Given the description of an element on the screen output the (x, y) to click on. 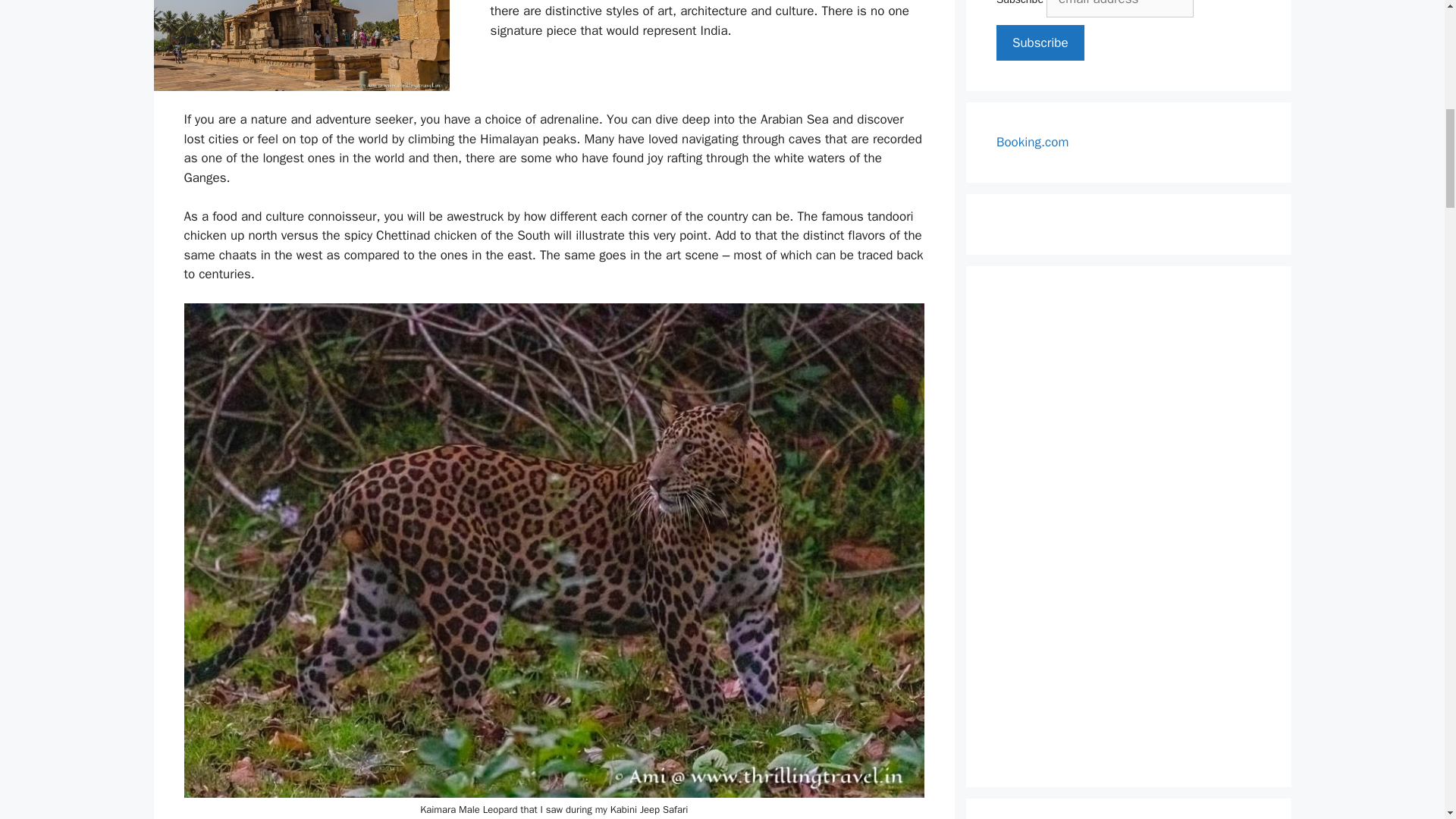
Subscribe (1039, 43)
